Given the description of an element on the screen output the (x, y) to click on. 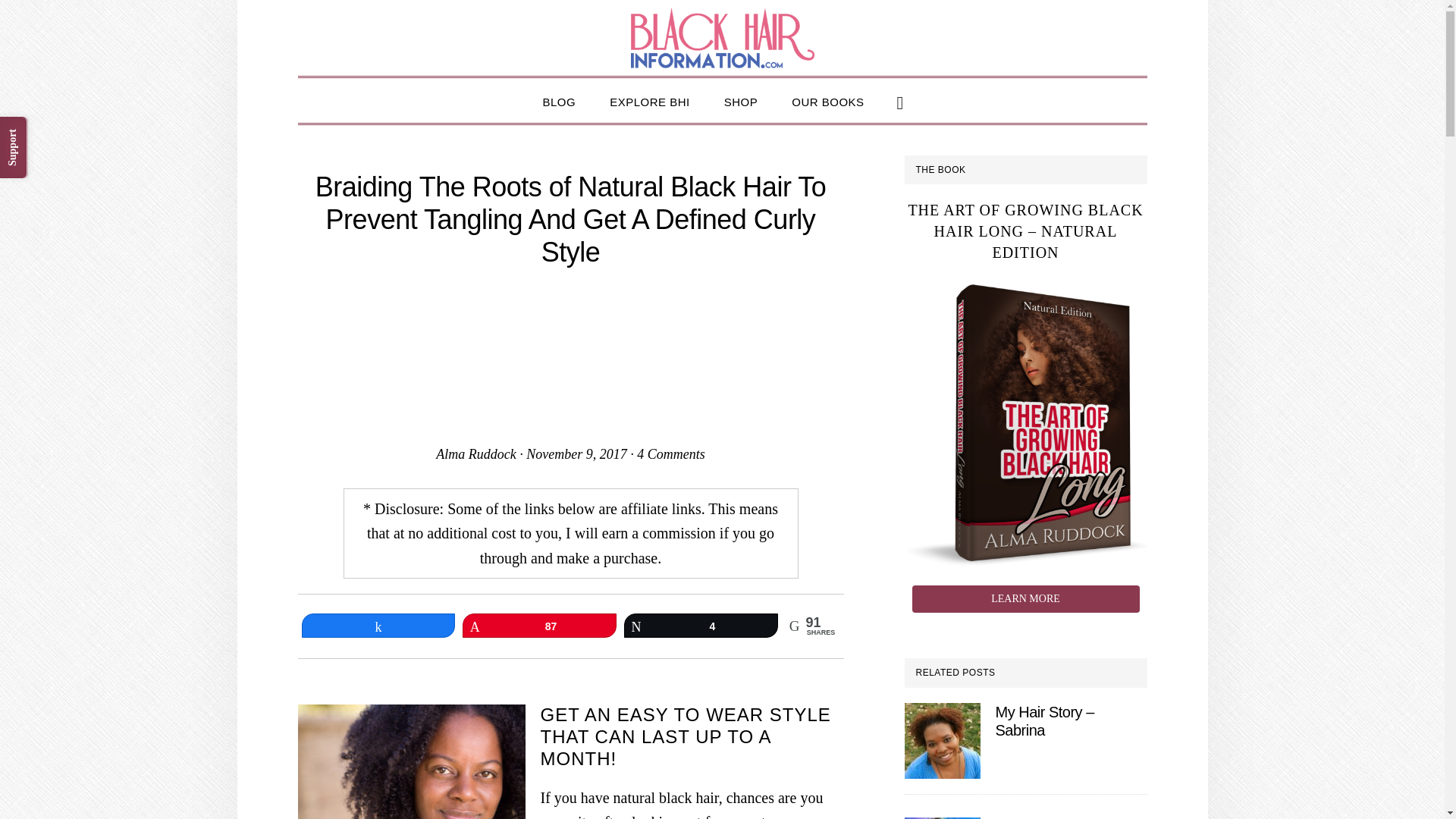
SHOP (741, 99)
EXPLORE BHI (649, 99)
BLACK HAIR INFORMATION (721, 37)
BLOG (559, 99)
Support (29, 131)
Advertisement (570, 355)
